Given the description of an element on the screen output the (x, y) to click on. 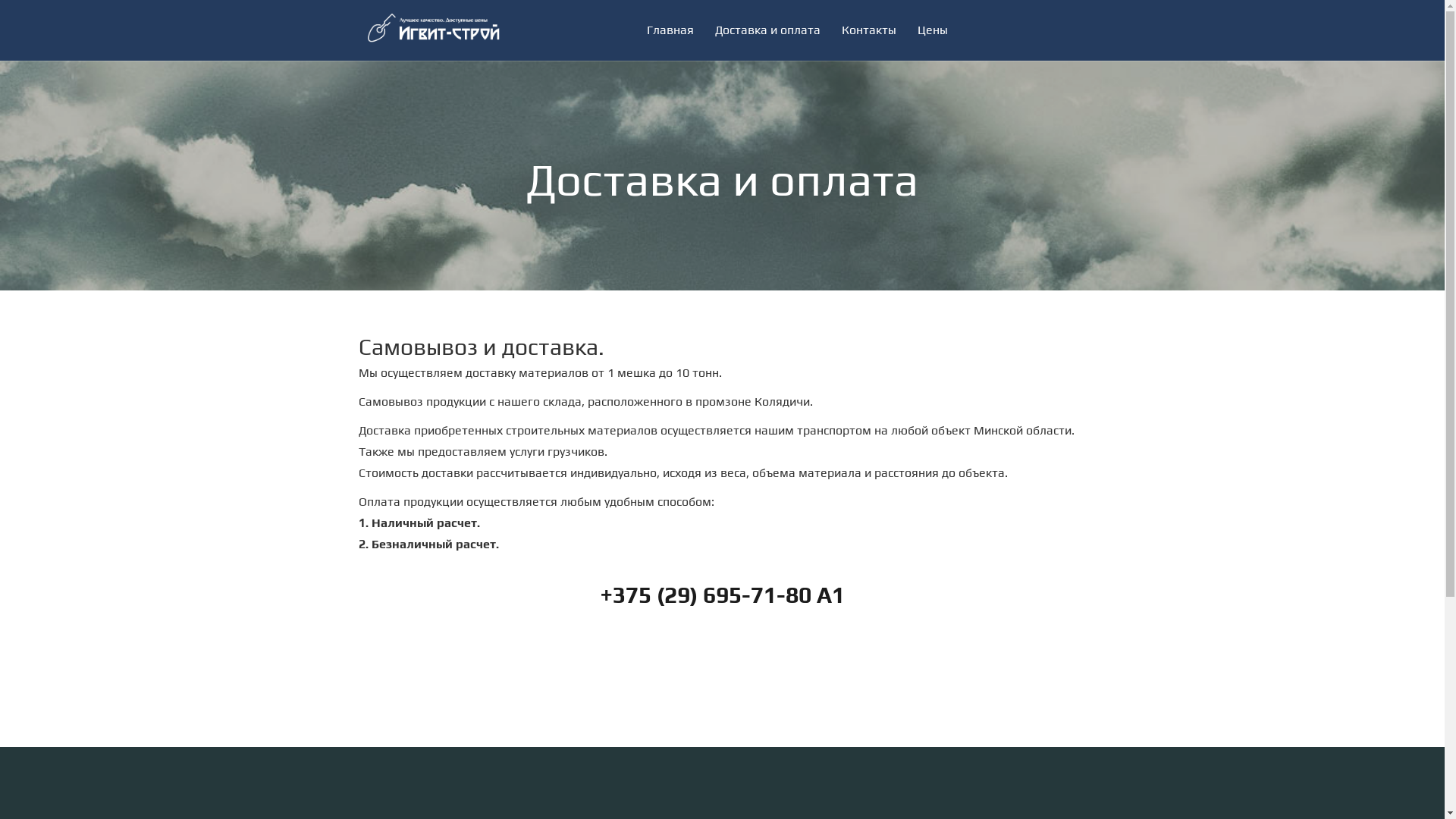
+375 (29) 695-71-80 Element type: text (705, 594)
